Given the description of an element on the screen output the (x, y) to click on. 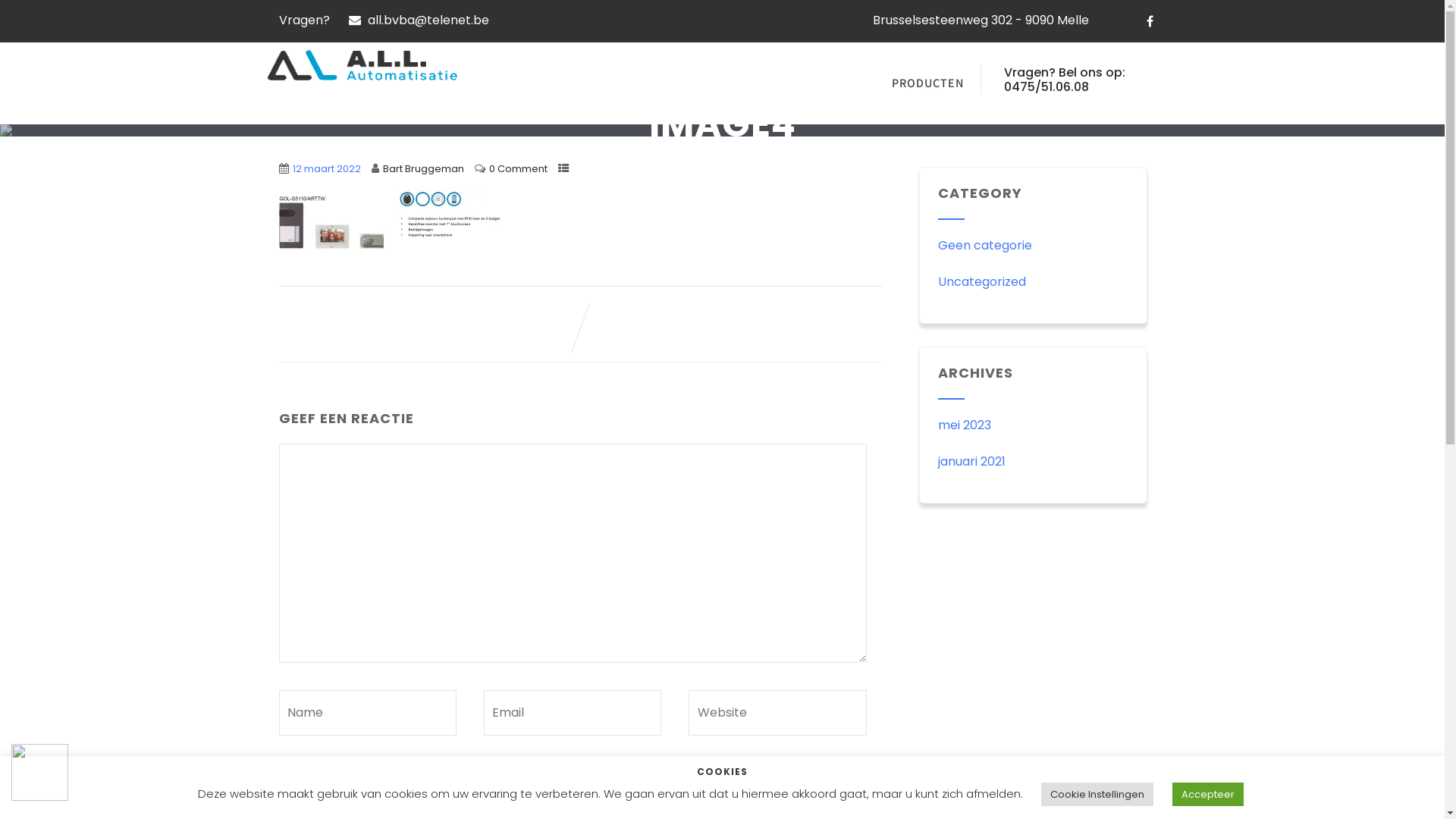
12 maart 2022 Element type: text (326, 168)
0 Comment Element type: text (517, 168)
PRODUCTEN Element type: text (927, 83)
januari 2021 Element type: text (971, 461)
Geen categorie Element type: text (985, 245)
Bart Bruggeman Element type: text (422, 168)
mei 2023 Element type: text (964, 424)
facebook Element type: hover (1149, 21)
Uncategorized Element type: text (982, 281)
Accepteer Element type: text (1207, 794)
Cookie Instellingen Element type: text (1096, 794)
ALL Automatisatie Element type: hover (361, 65)
